Given the description of an element on the screen output the (x, y) to click on. 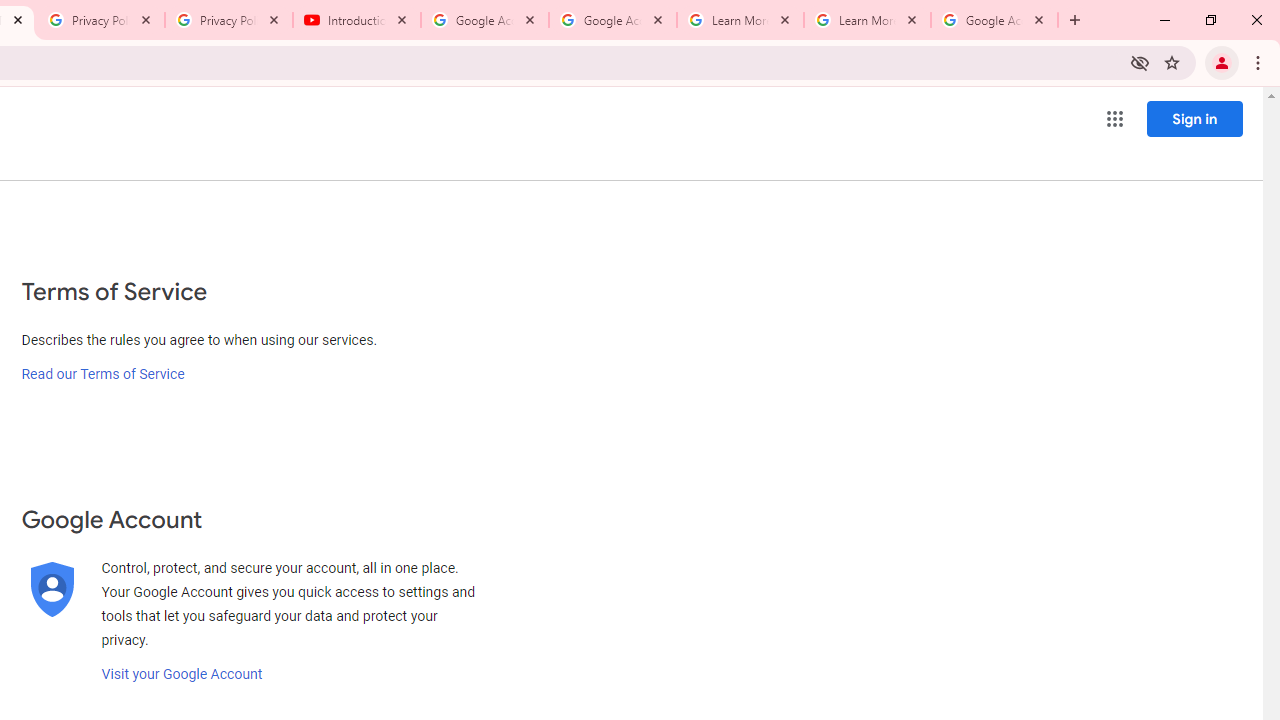
Visit your Google Account (181, 674)
